Given the description of an element on the screen output the (x, y) to click on. 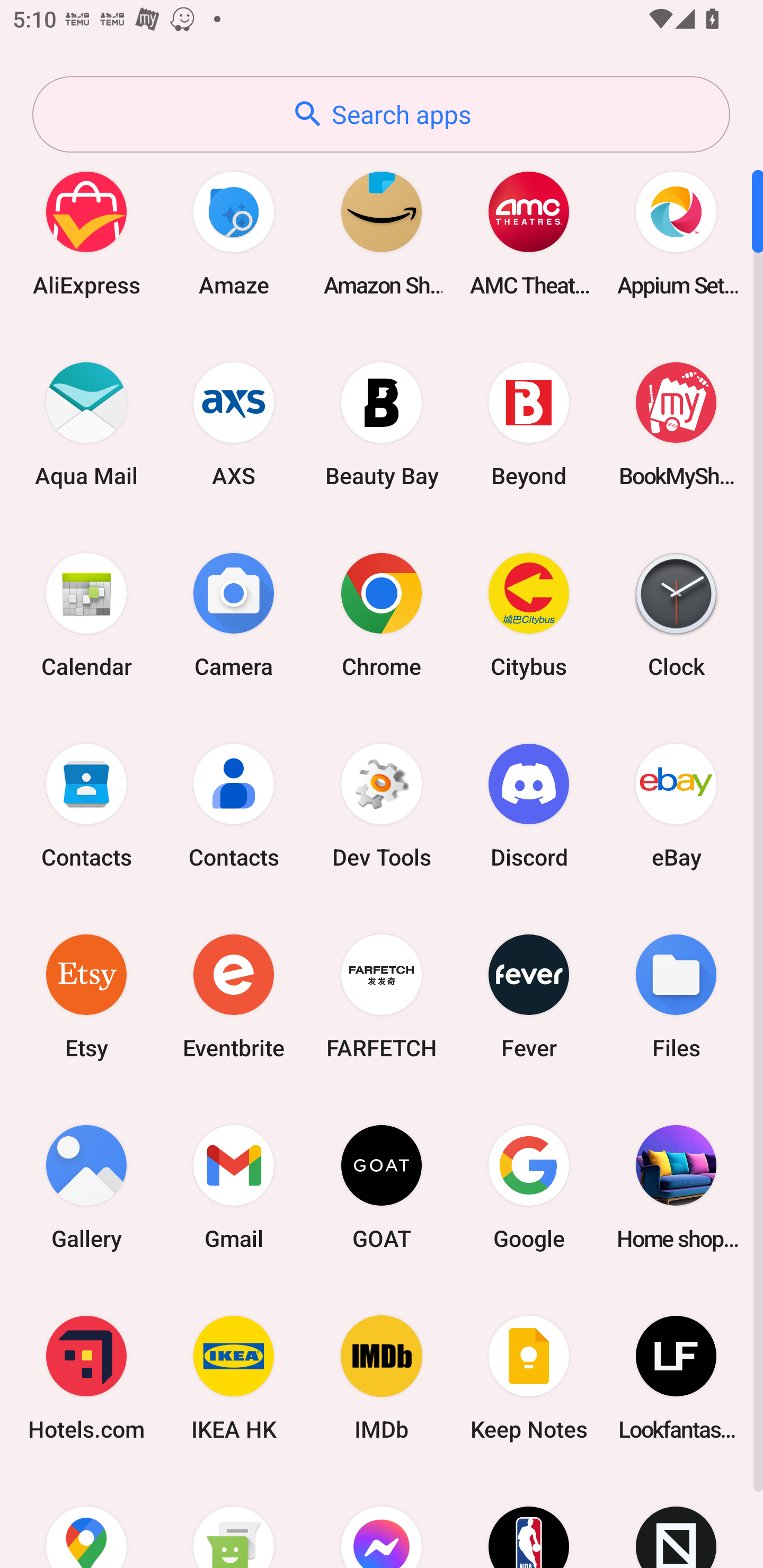
  Search apps (381, 114)
AliExpress (86, 233)
Amaze (233, 233)
Amazon Shopping (381, 233)
AMC Theatres (528, 233)
Appium Settings (676, 233)
Aqua Mail (86, 424)
AXS (233, 424)
Beauty Bay (381, 424)
Beyond (528, 424)
BookMyShow (676, 424)
Calendar (86, 614)
Camera (233, 614)
Chrome (381, 614)
Citybus (528, 614)
Clock (676, 614)
Contacts (86, 805)
Contacts (233, 805)
Dev Tools (381, 805)
Discord (528, 805)
eBay (676, 805)
Etsy (86, 996)
Eventbrite (233, 996)
FARFETCH (381, 996)
Fever (528, 996)
Files (676, 996)
Gallery (86, 1186)
Gmail (233, 1186)
GOAT (381, 1186)
Google (528, 1186)
Home shopping (676, 1186)
Hotels.com (86, 1377)
IKEA HK (233, 1377)
IMDb (381, 1377)
Keep Notes (528, 1377)
Lookfantastic (676, 1377)
Maps (86, 1520)
Messaging (233, 1520)
Messenger (381, 1520)
NBA (528, 1520)
Novelship (676, 1520)
